Given the description of an element on the screen output the (x, y) to click on. 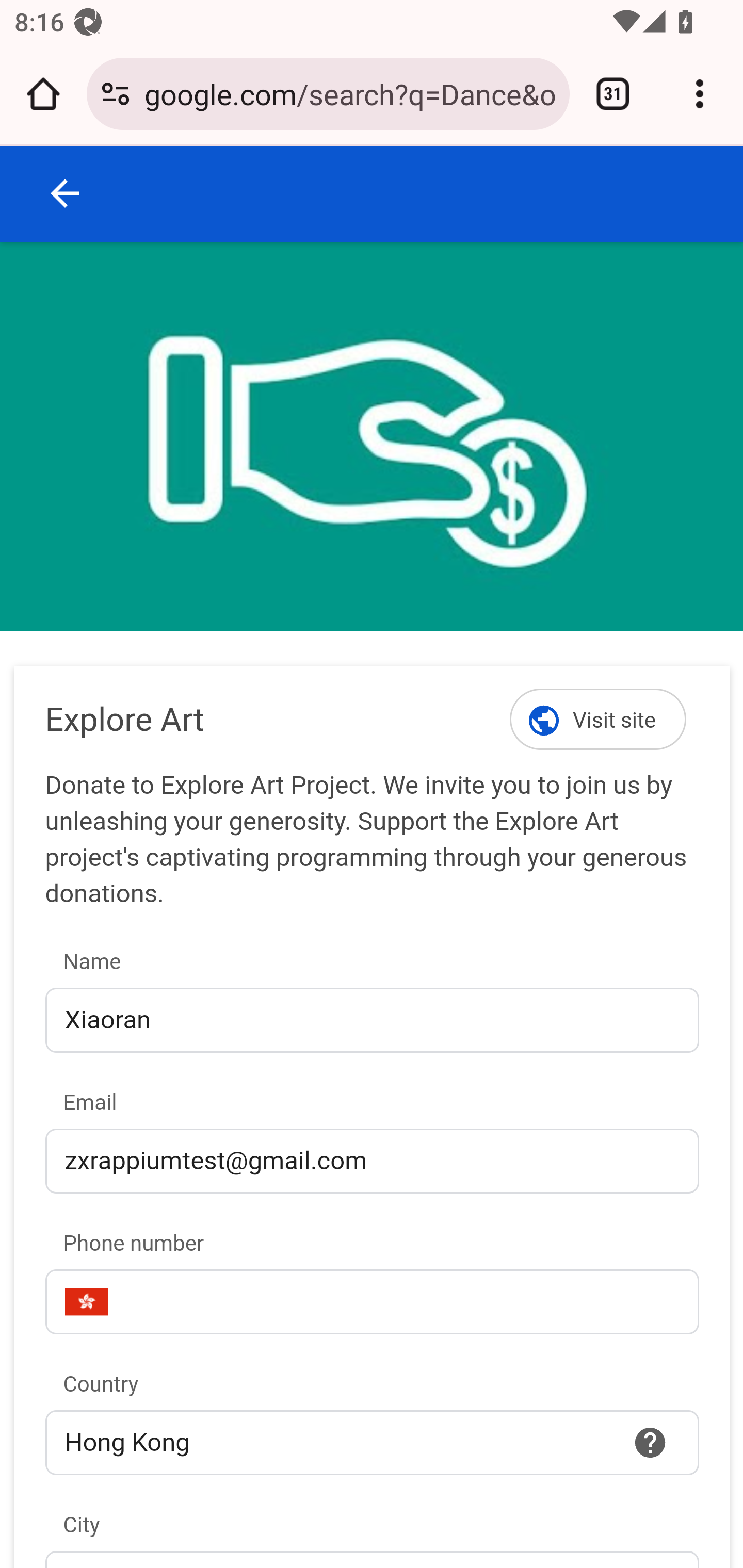
Open the home page (43, 93)
Connection is secure (115, 93)
Switch or close tabs (612, 93)
Customize and control Google Chrome (699, 93)
Back (65, 192)
Visit site (598, 718)
Xiaoran (371, 1019)
zxrappiumtest@gmail.com (371, 1159)
Hong Kong (371, 1442)
country help (650, 1442)
